Given the description of an element on the screen output the (x, y) to click on. 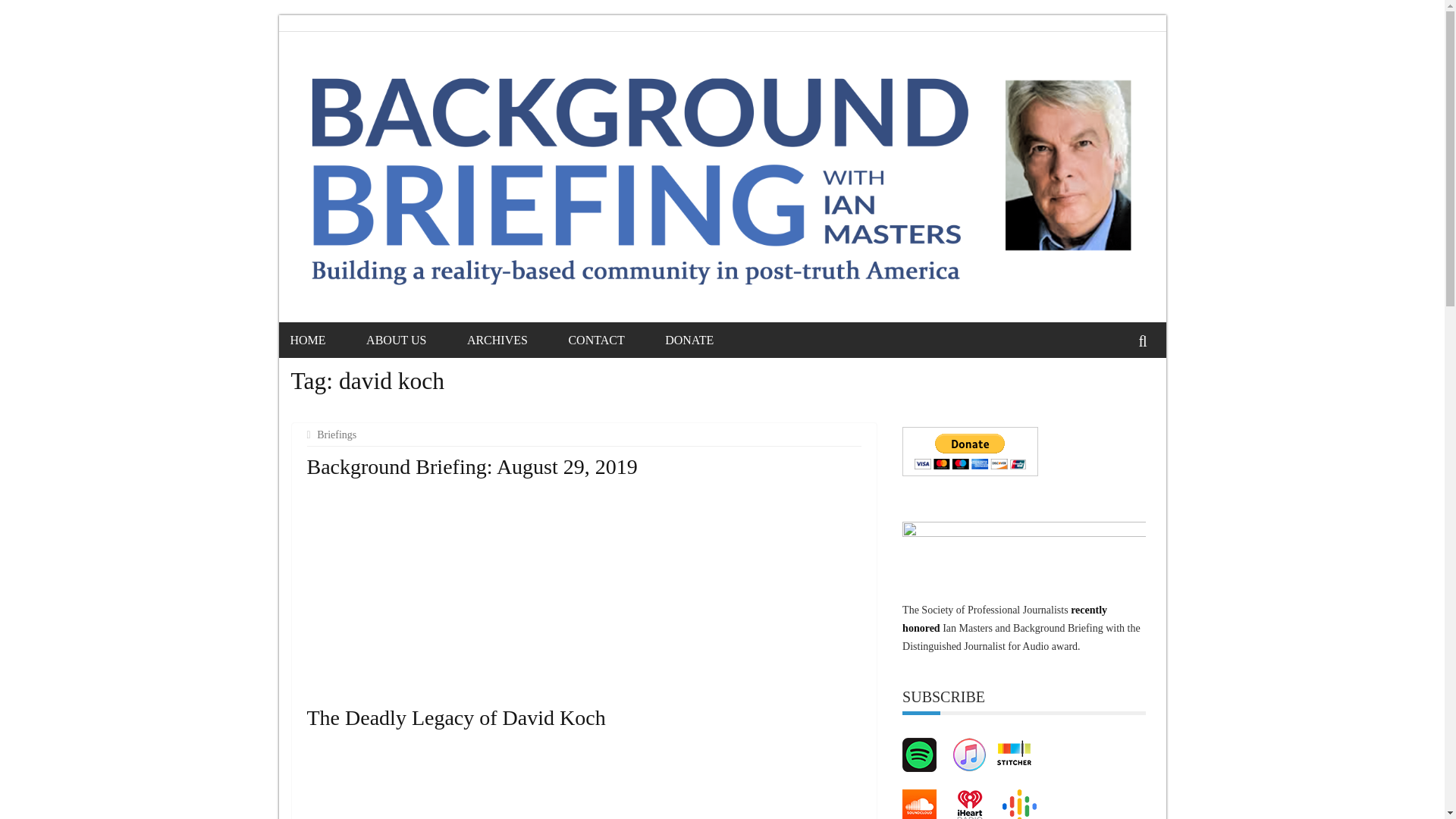
BACKGROUND BRIEFING (413, 101)
ARCHIVES (516, 339)
PayPal - The safer, easier way to pay online! (970, 450)
ABOUT US (415, 339)
HOME (325, 339)
recently honored (1004, 618)
DONATE (708, 339)
Briefings (338, 434)
CONTACT (614, 339)
Background Briefing: August 29, 2019 (471, 466)
